Given the description of an element on the screen output the (x, y) to click on. 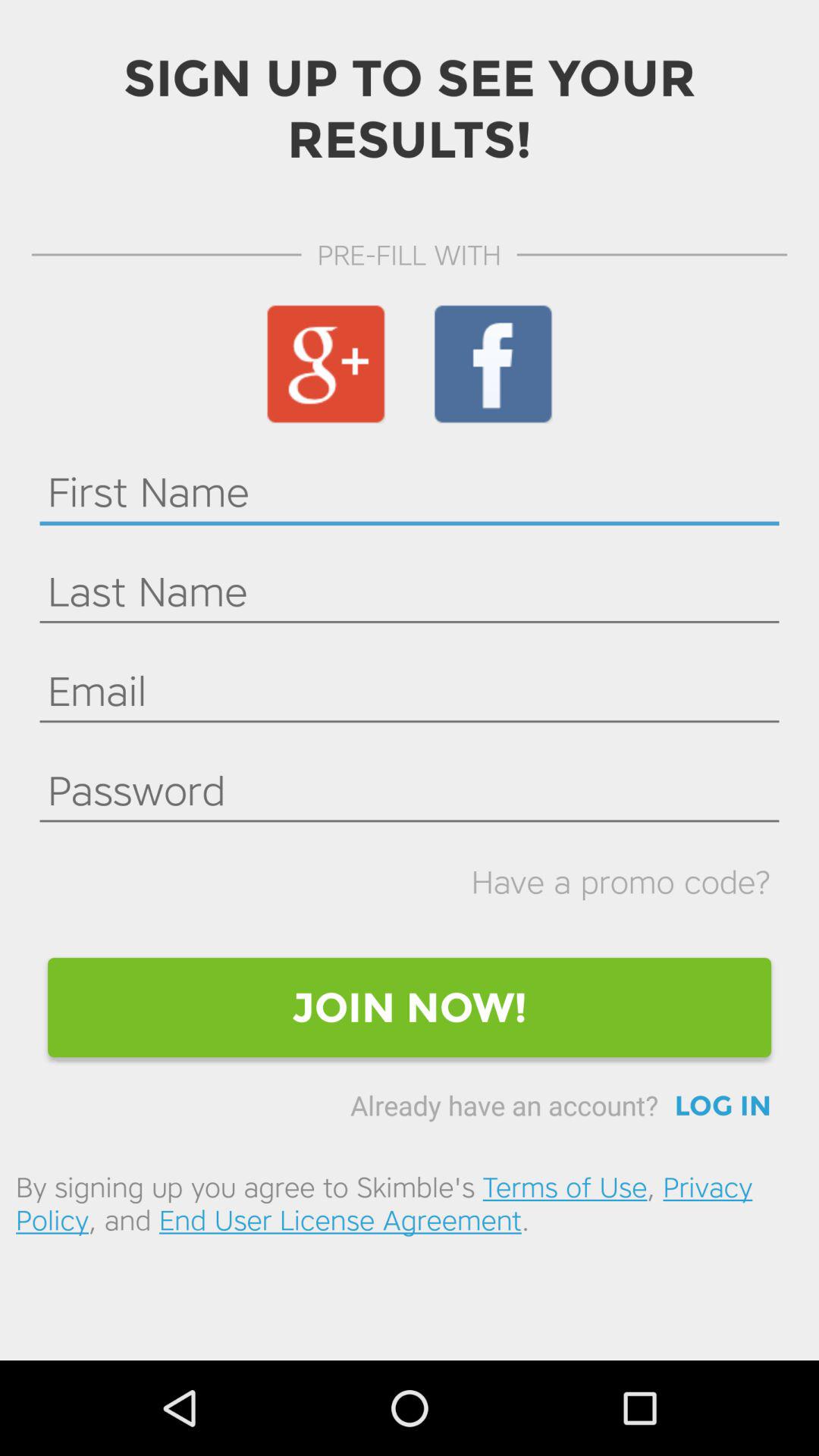
flip to the log in icon (722, 1105)
